Given the description of an element on the screen output the (x, y) to click on. 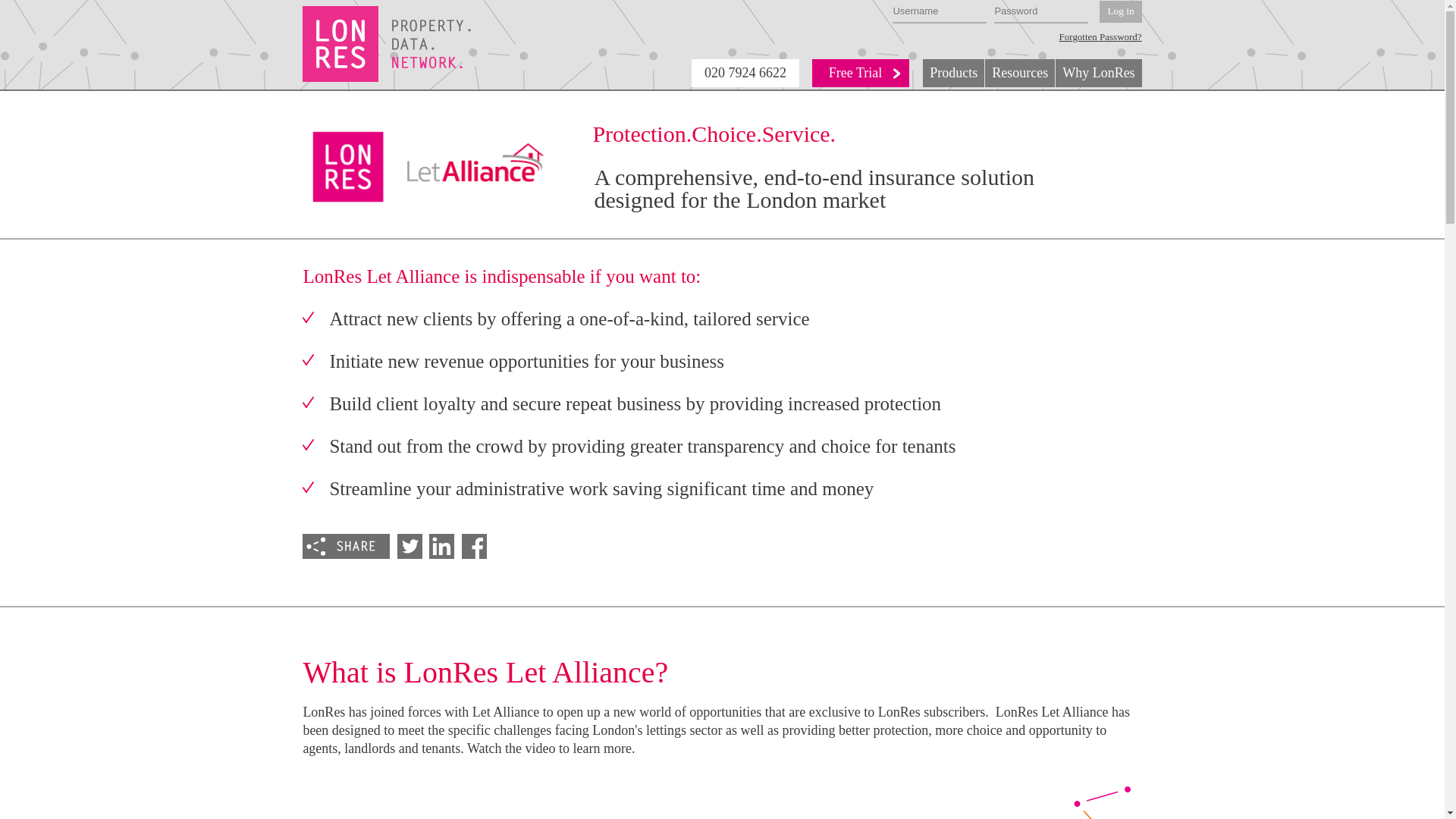
Free Trial (861, 72)
Products (953, 72)
Log in (1120, 11)
Lonres (386, 43)
Resources (1019, 72)
Home (386, 43)
Why LonRes (1098, 72)
LonRes Let Alliance - a new proposition for letting agents (655, 786)
LonRes Let Alliance - a new proposition for letting agents (721, 795)
Log in (1120, 11)
Forgotten Password? (1100, 37)
